Given the description of an element on the screen output the (x, y) to click on. 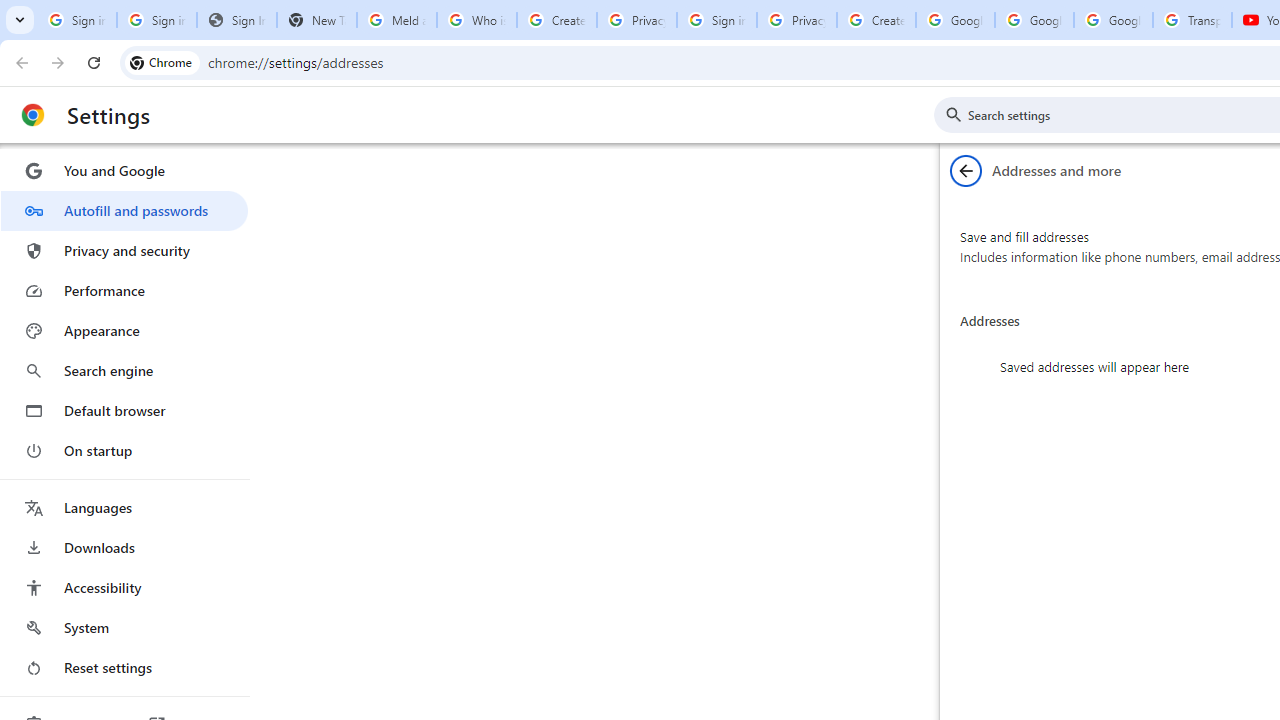
Preview Results (1202, 161)
Match Fields... (1057, 161)
Update Labels (1064, 196)
Labels... (232, 161)
Address Block... (757, 161)
Envelopes... (155, 161)
